Given the description of an element on the screen output the (x, y) to click on. 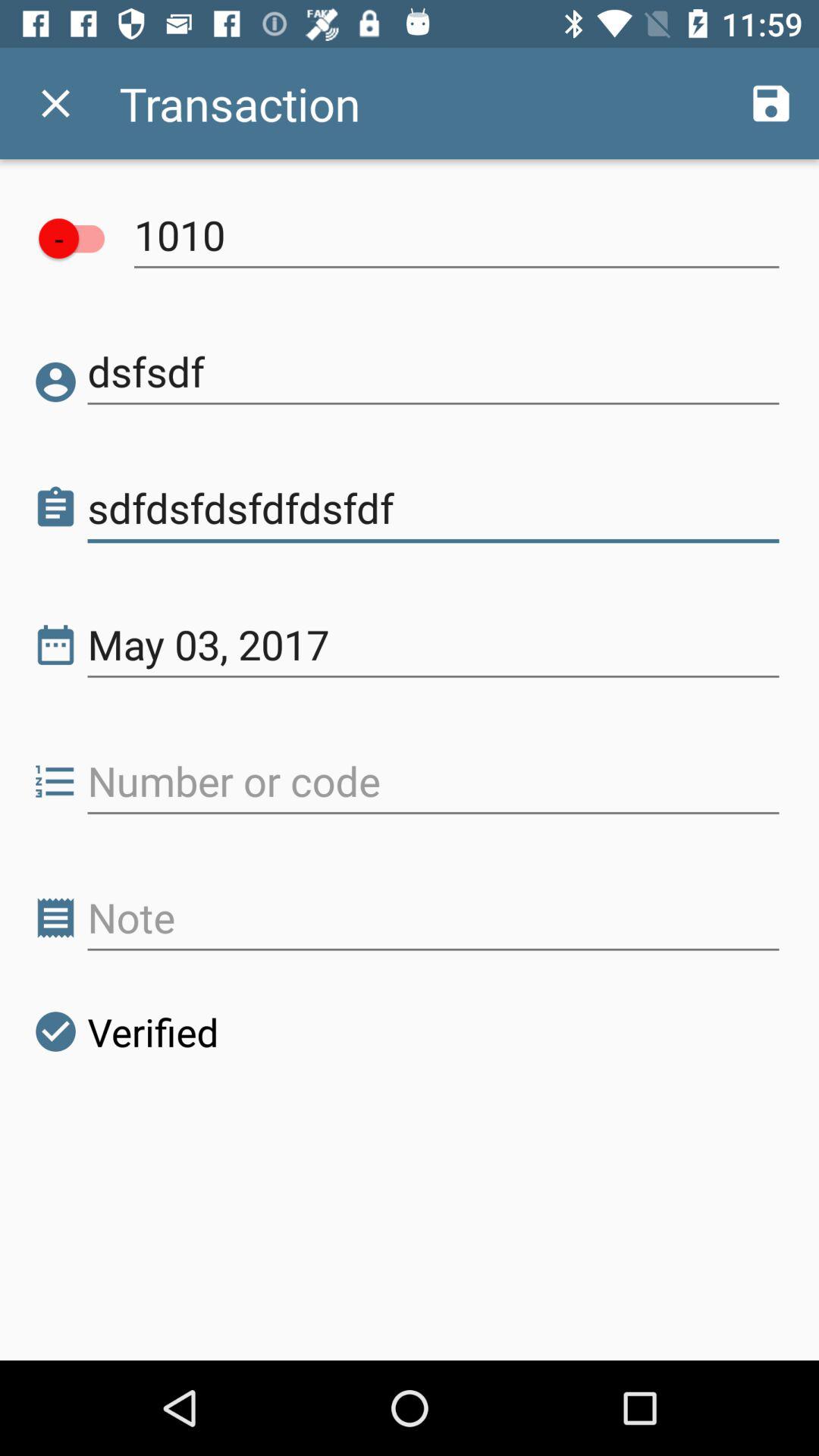
open item to the left of transaction item (55, 103)
